Given the description of an element on the screen output the (x, y) to click on. 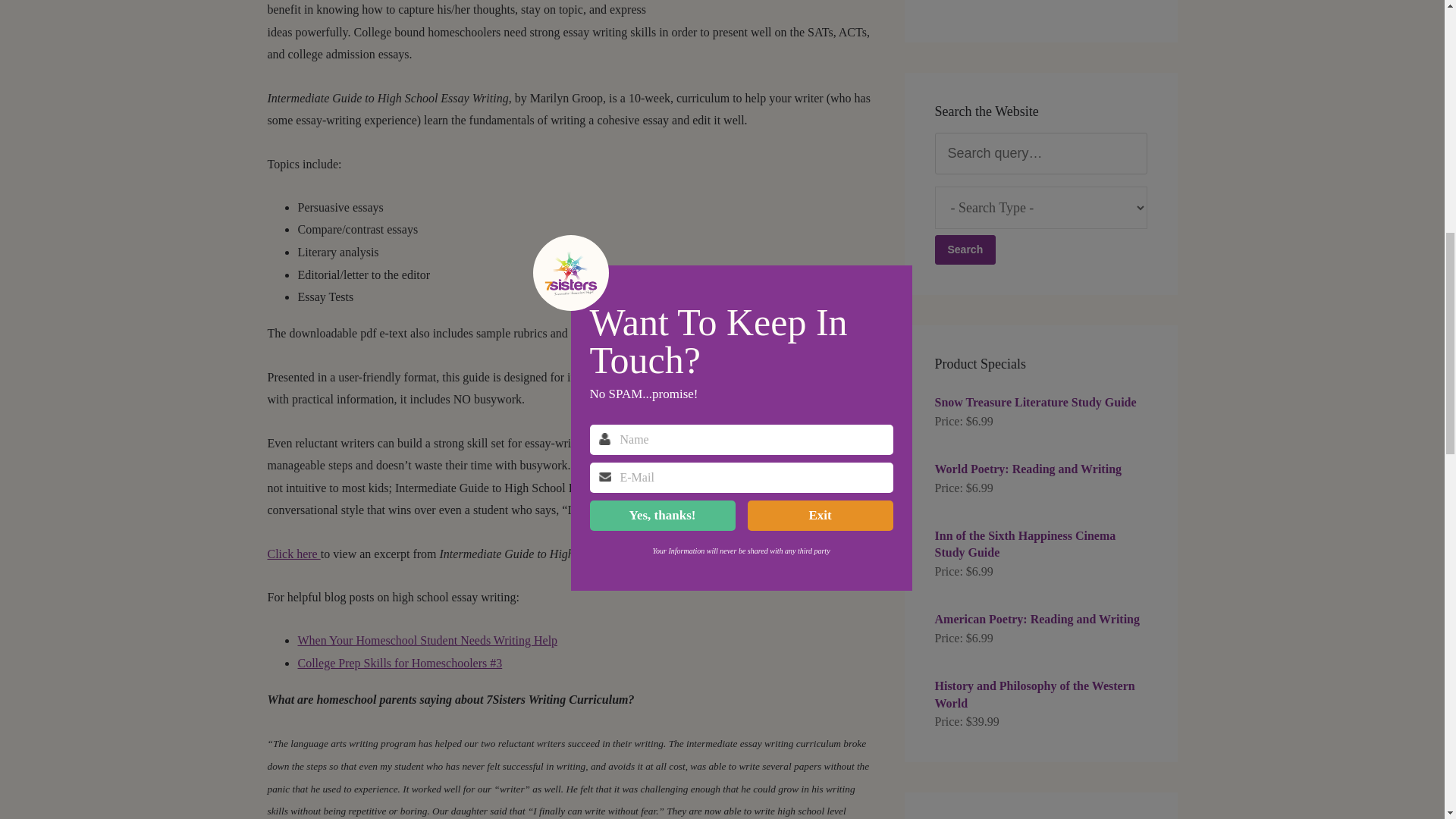
high school essay writing (427, 640)
high school essay writing (399, 662)
Permanent Link to World Poetry: Reading and Writing (1040, 469)
Search (964, 249)
Permanent Link to Snow Treasure Literature Study Guide (1040, 402)
Permanent Link to American Poetry: Reading and Writing (1040, 619)
